Given the description of an element on the screen output the (x, y) to click on. 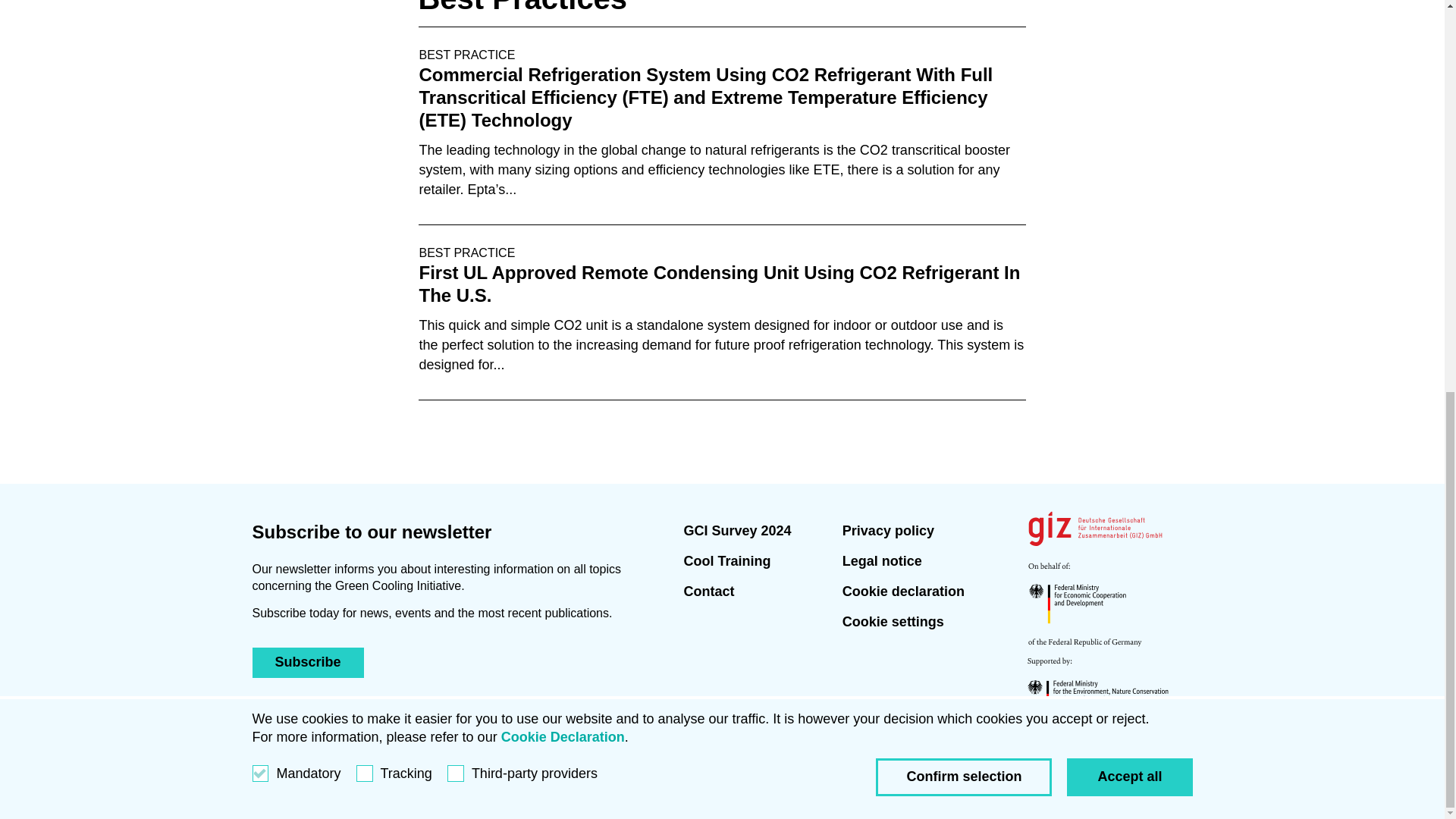
Confirm selection (963, 26)
Accept all (1129, 26)
